Given the description of an element on the screen output the (x, y) to click on. 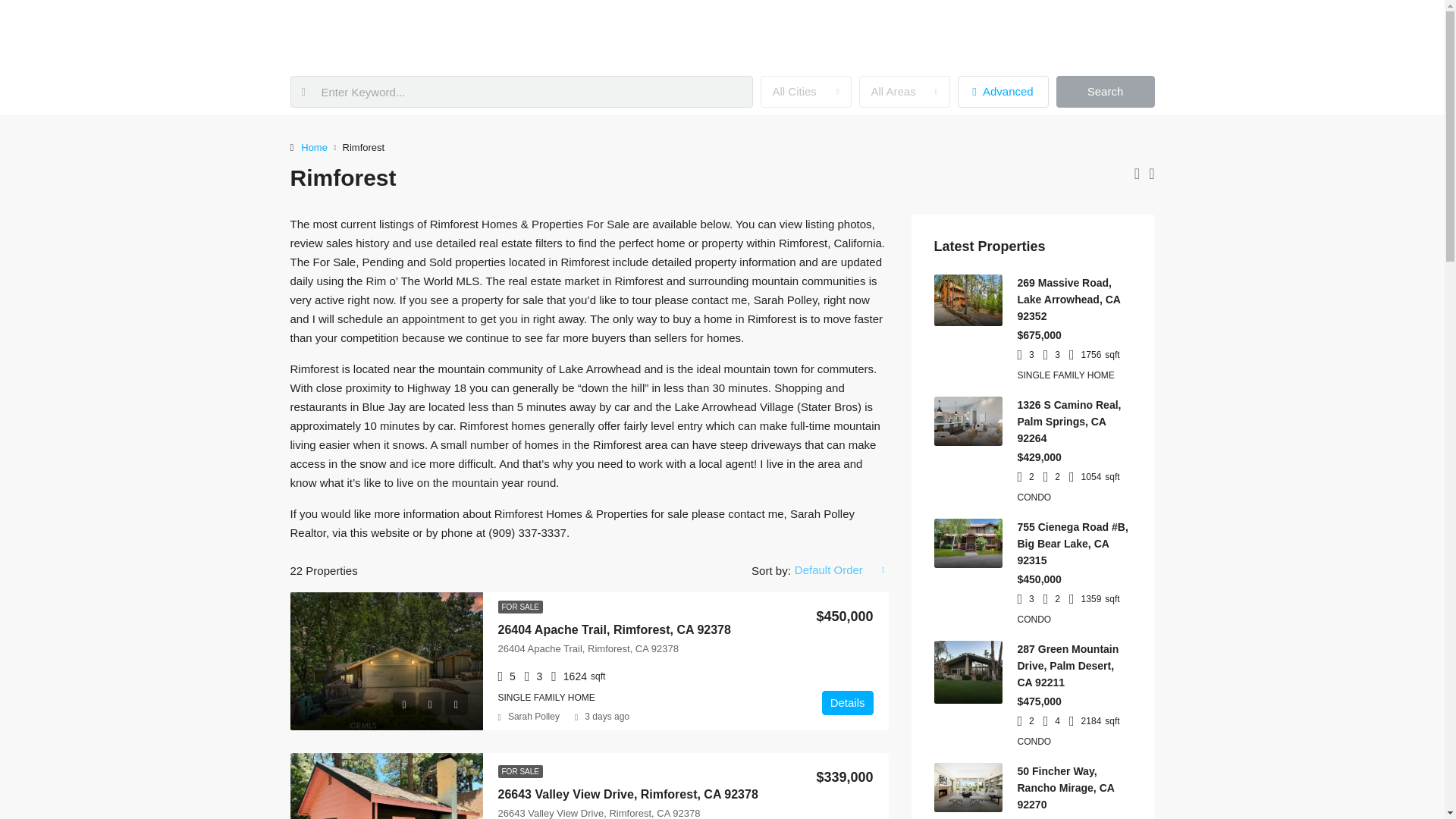
All Areas (904, 91)
Docks (935, 33)
All Cities (805, 91)
Mountain Info (1015, 33)
Buy A Home (858, 33)
Sell Your Home (759, 33)
